Given the description of an element on the screen output the (x, y) to click on. 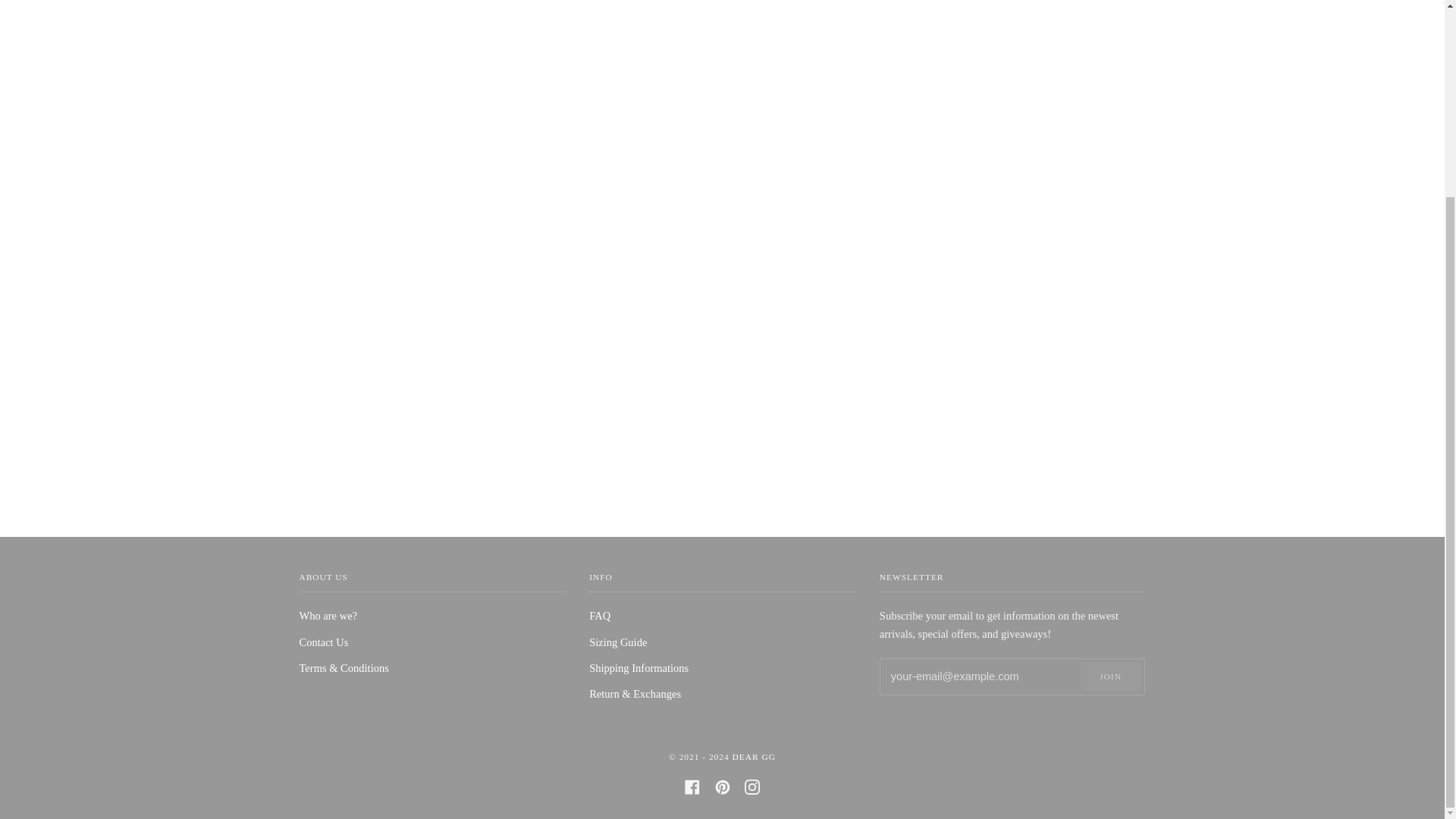
Pinterest (721, 786)
Instagram (752, 786)
Facebook (692, 786)
